Given the description of an element on the screen output the (x, y) to click on. 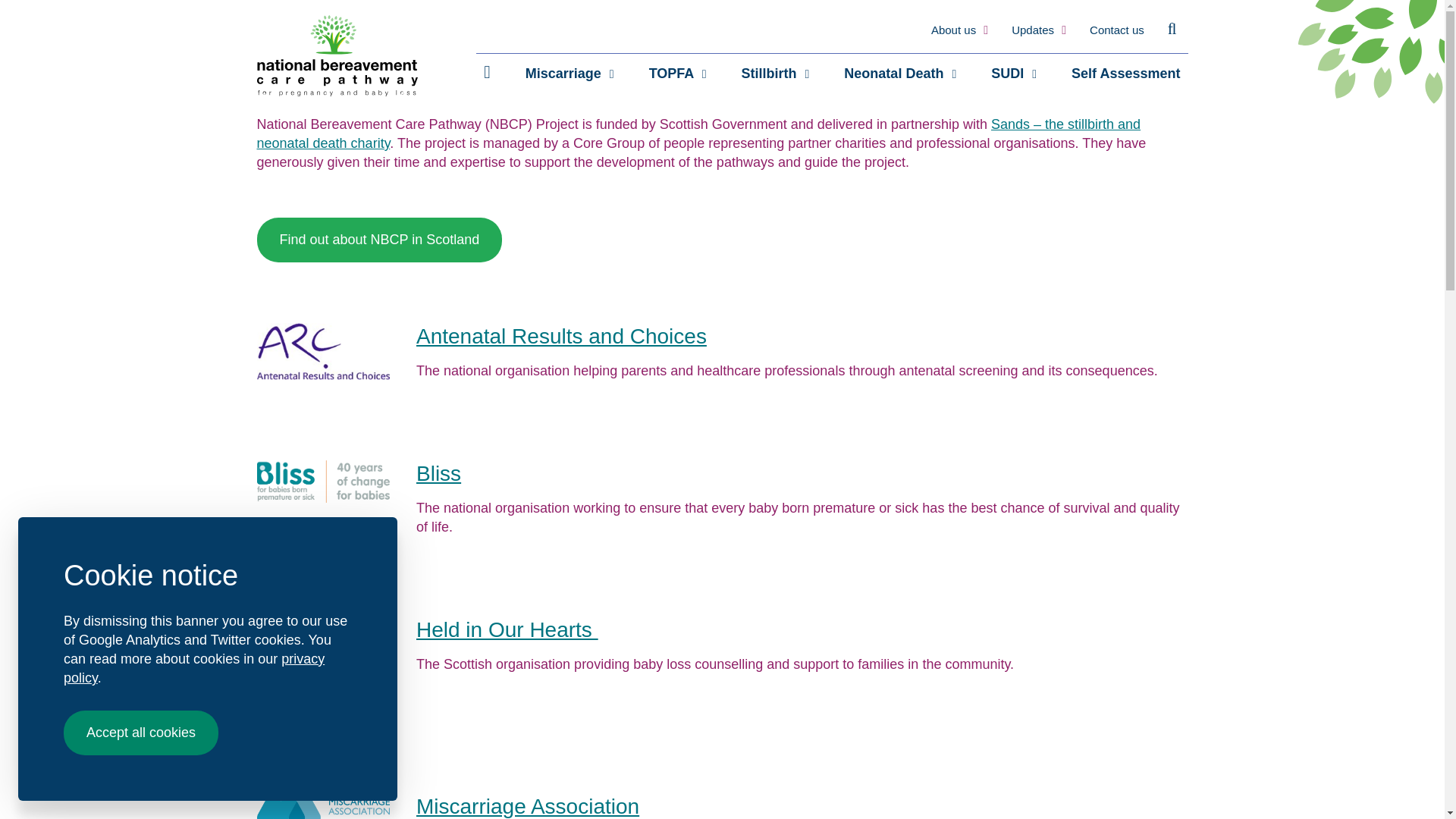
Held in Our Hearts  (507, 629)
Privacy Policy (194, 668)
Bliss (438, 473)
Stillbirth (774, 74)
SUDI (1013, 74)
Miscarriage Association (527, 806)
Go to www.arc-uk.org (561, 336)
Antenatal Results and Choices (561, 336)
Go to www.bliss.org.uk (438, 473)
Self Assessment (1126, 74)
Go to heldinourhearts.org.uk (507, 629)
Go to www.miscarriageassociation.org.uk (527, 806)
TOPFA (678, 74)
Contact us (1116, 29)
Find out about NBCP in Scotland (379, 239)
